Given the description of an element on the screen output the (x, y) to click on. 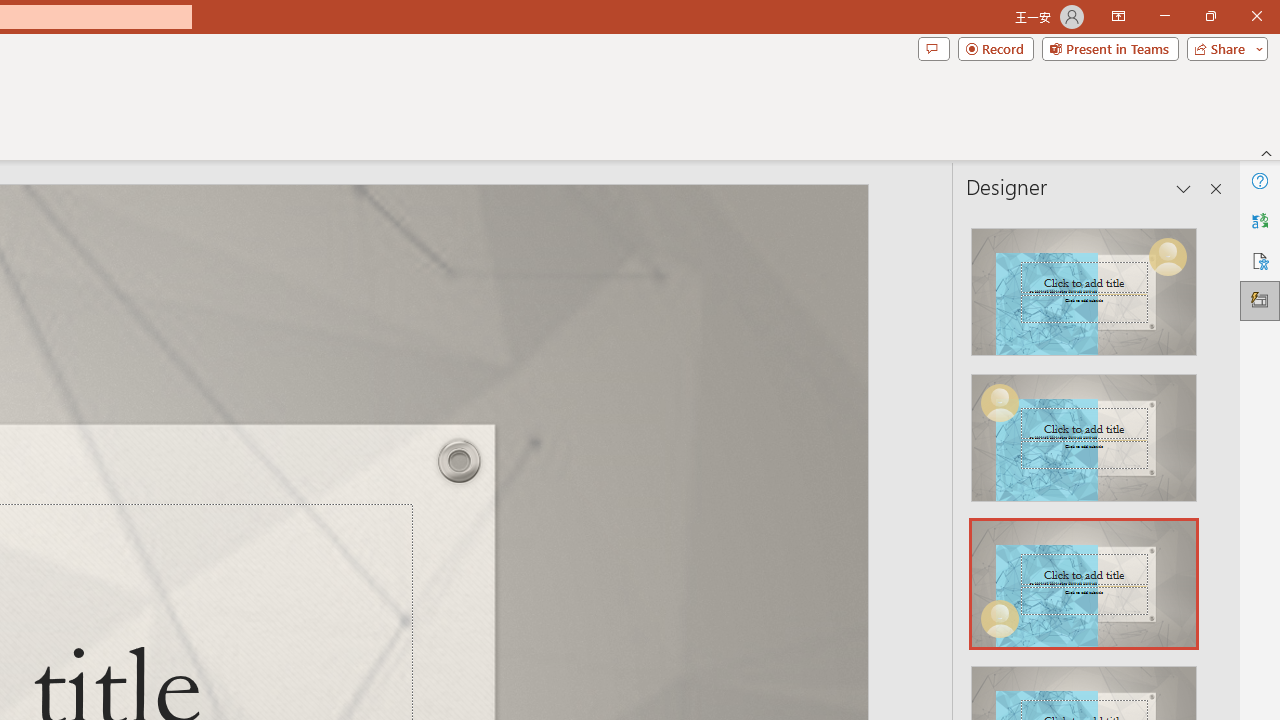
Designer (1260, 300)
Translator (1260, 220)
Recommended Design: Design Idea (1083, 286)
Design Idea (1083, 577)
